Given the description of an element on the screen output the (x, y) to click on. 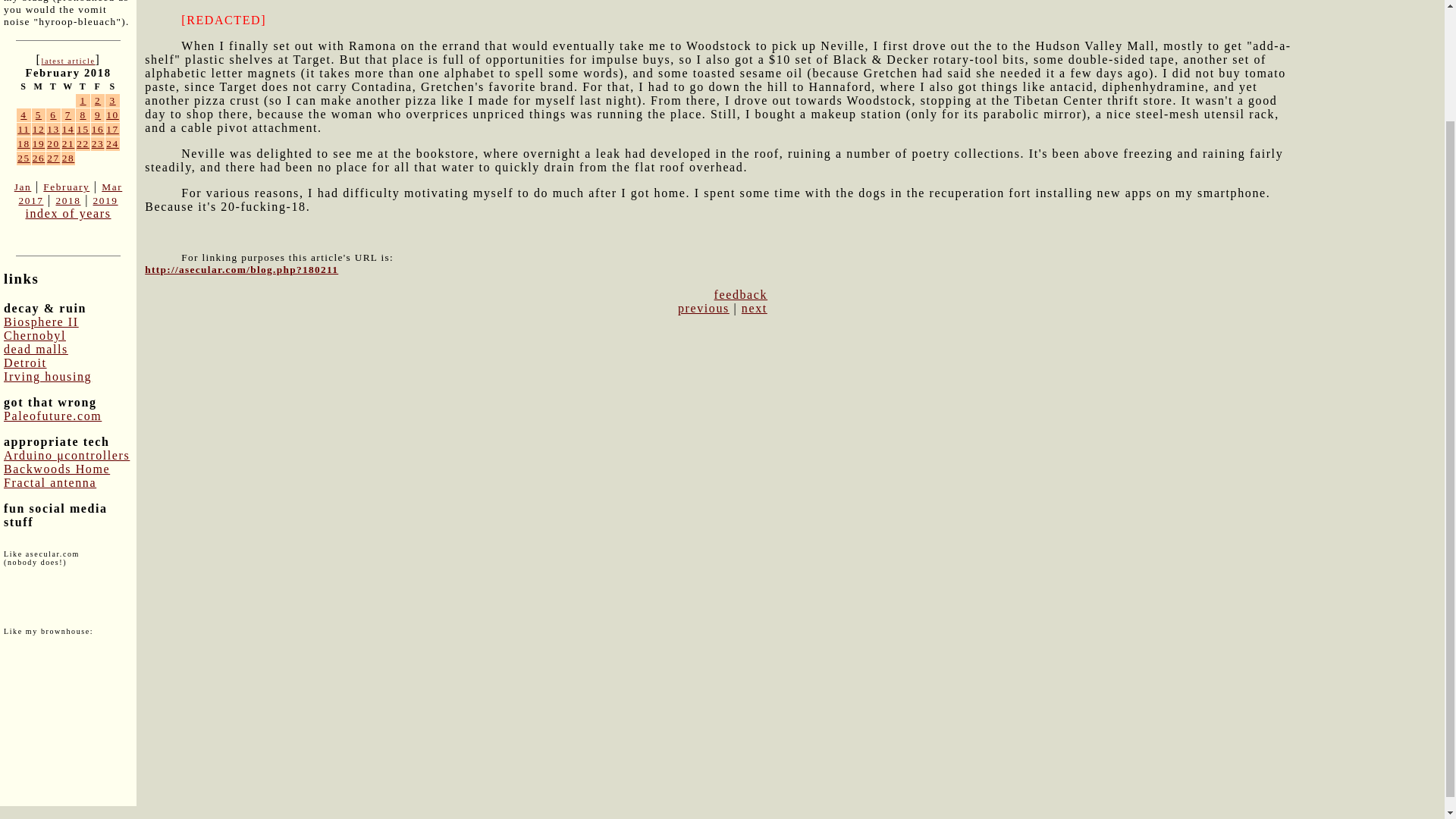
February (65, 186)
20 (52, 143)
18 (23, 143)
13 (52, 129)
21 (68, 143)
27 (52, 157)
Jan (23, 186)
Mar (111, 186)
24 (112, 143)
index of years (67, 213)
dead malls (36, 349)
28 (68, 157)
15 (82, 129)
2019 (105, 200)
14 (68, 129)
